Given the description of an element on the screen output the (x, y) to click on. 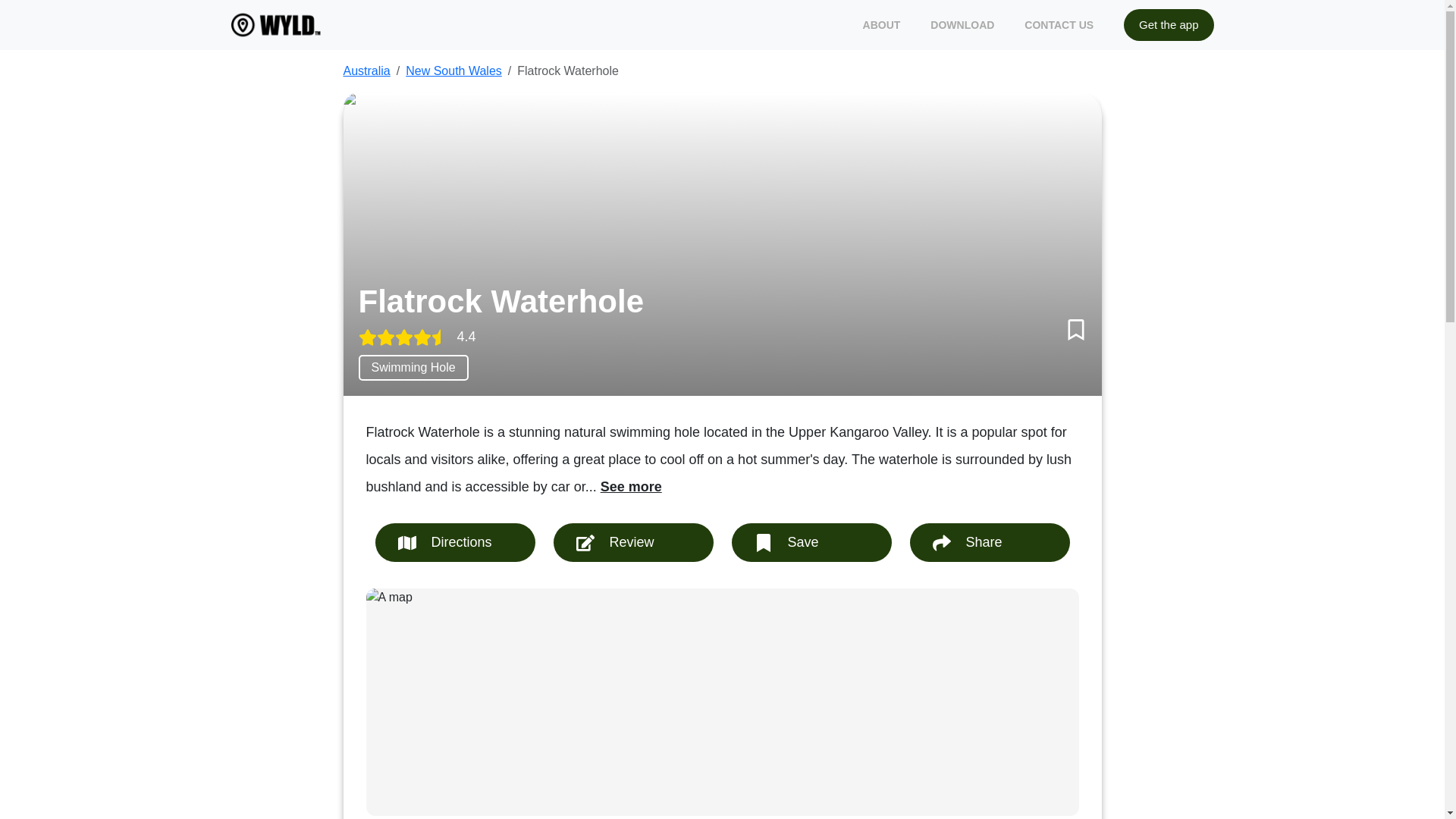
Get the app (1168, 25)
Directions (454, 542)
New South Wales (454, 70)
DOWNLOAD (962, 24)
CONTACT US (1059, 24)
Australia (366, 70)
ABOUT (882, 24)
